Given the description of an element on the screen output the (x, y) to click on. 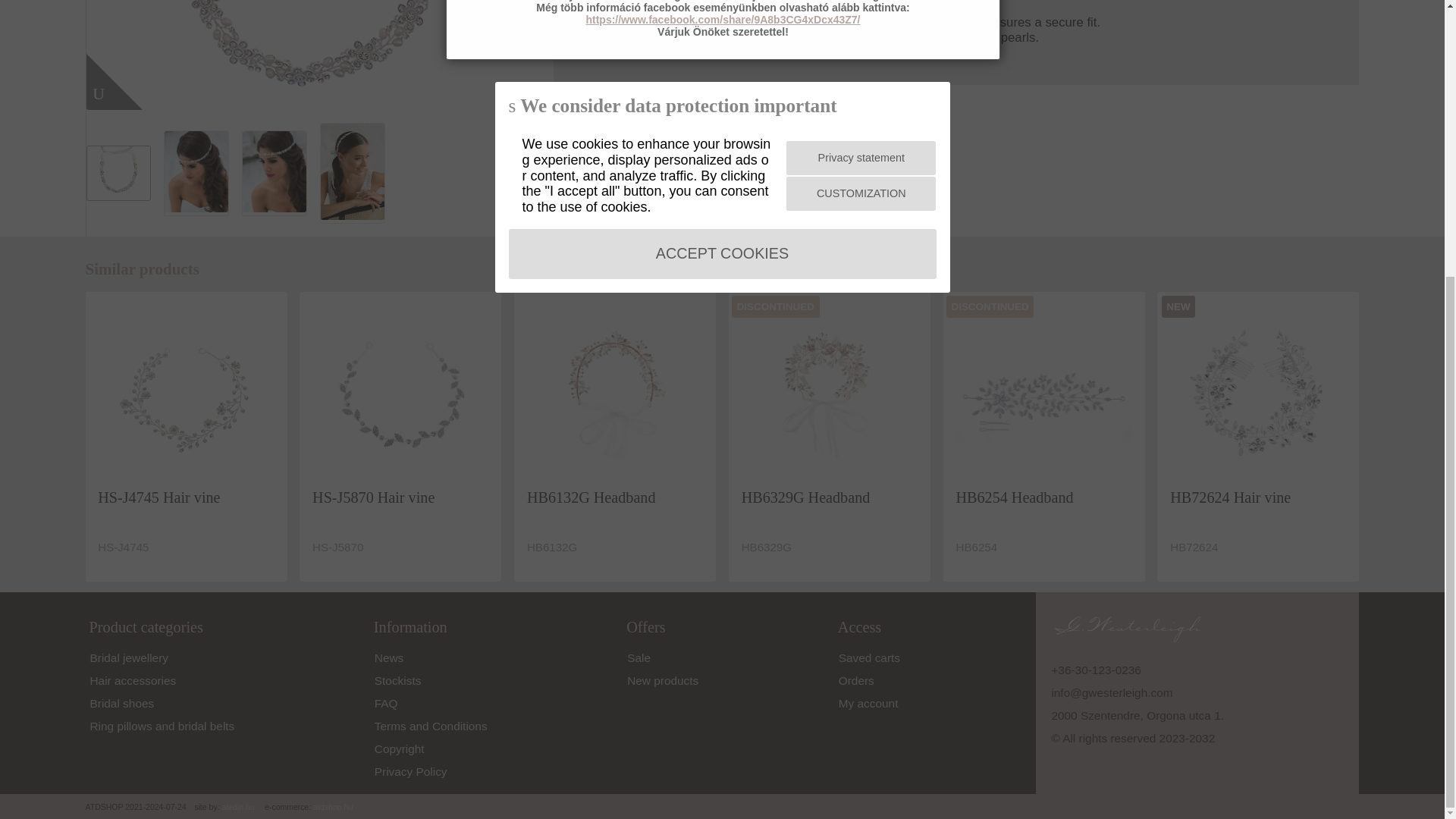
HS-J4745 Hair vine (185, 392)
FD1-0678 Headband (313, 54)
HB6329G Headband (829, 392)
HB6254 Headband (1043, 392)
HB6132G Headband (615, 392)
HS-J5870 Hair vine (400, 392)
